Given the description of an element on the screen output the (x, y) to click on. 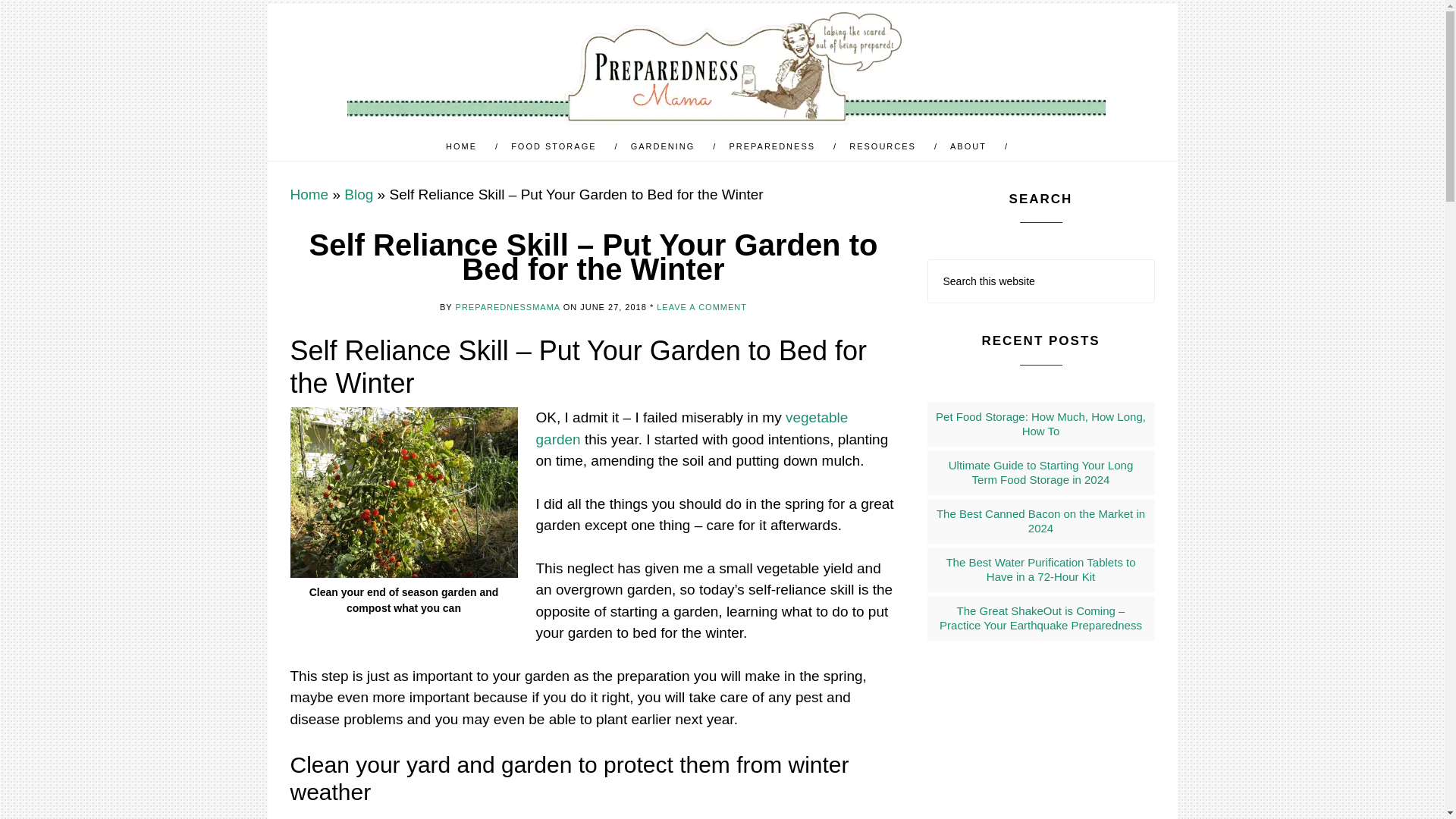
LEAVE A COMMENT (701, 306)
PREPAREDNESS (778, 146)
RESOURCES (888, 146)
Home (309, 194)
Blog (357, 194)
FOOD STORAGE (558, 146)
ABOUT (974, 146)
PREPAREDNESSMAMA (726, 68)
